Given the description of an element on the screen output the (x, y) to click on. 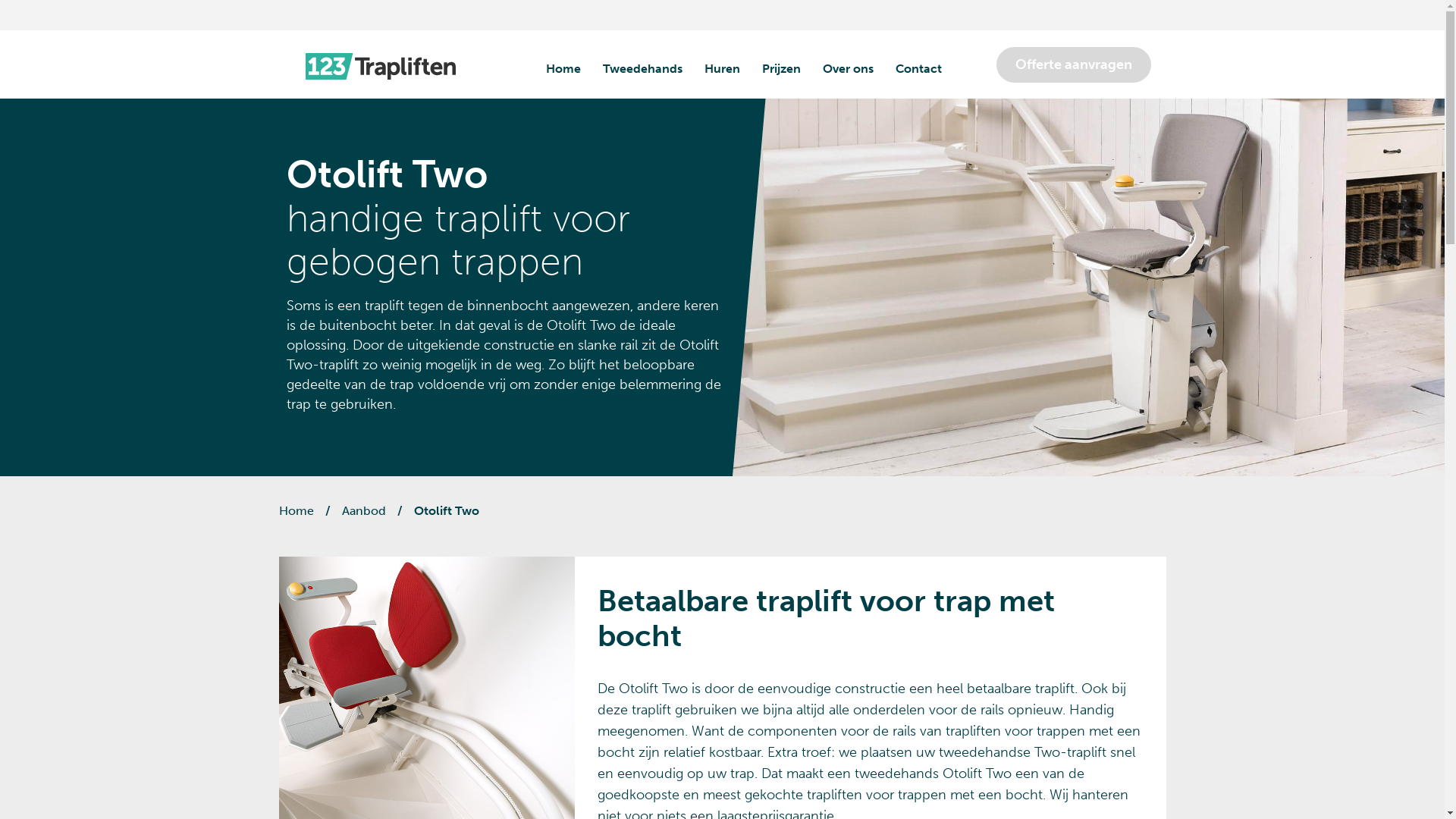
Home Element type: text (563, 68)
Offerte aanvragen Element type: text (1073, 64)
Tweedehands Element type: text (641, 68)
Huren Element type: text (721, 68)
Over ons Element type: text (847, 68)
Aanbod Element type: text (363, 510)
Prijzen Element type: text (780, 68)
Contact Element type: text (917, 68)
Home Element type: text (296, 510)
